Given the description of an element on the screen output the (x, y) to click on. 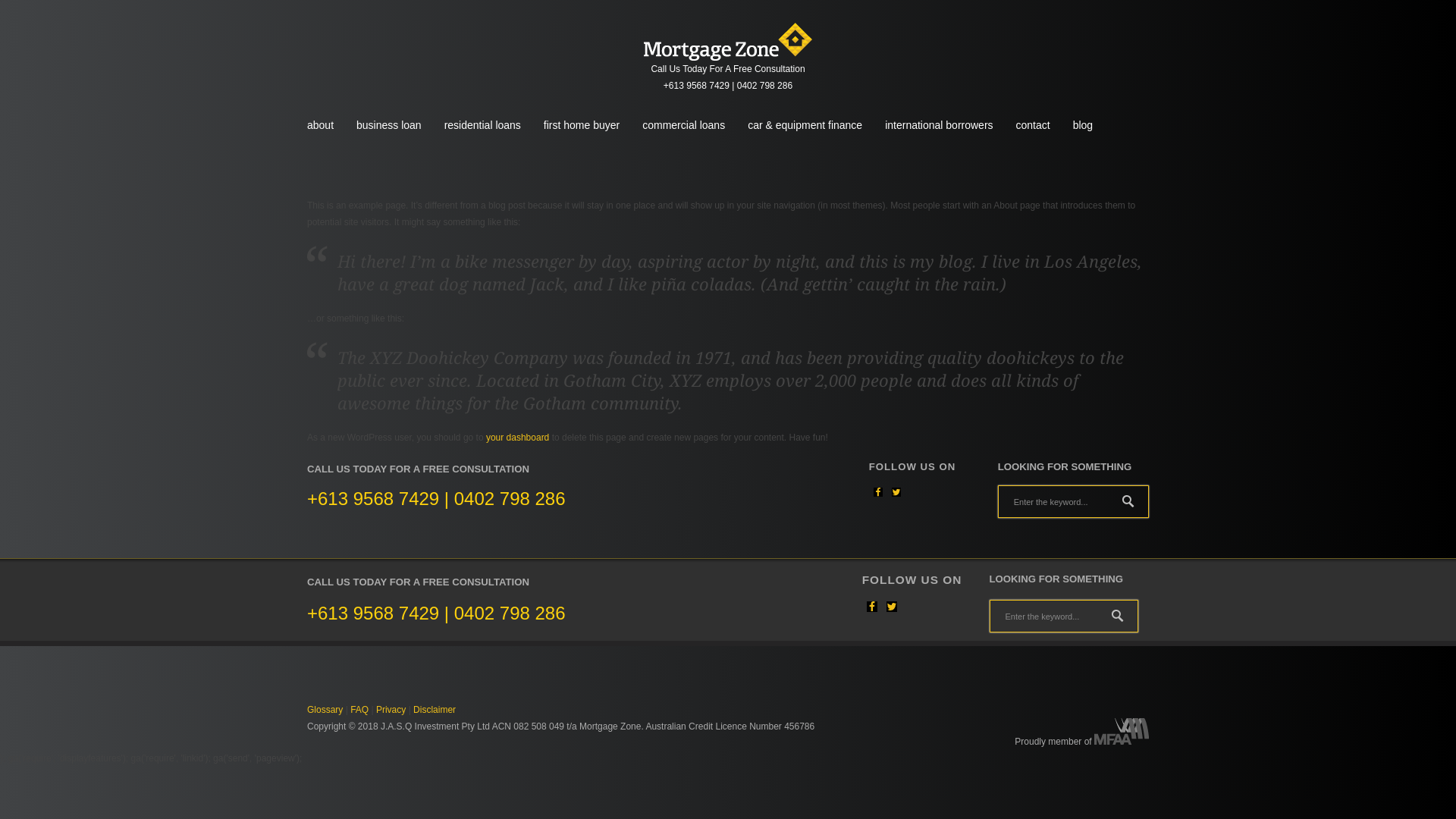
Glossary Element type: text (324, 709)
first home buyer Element type: text (581, 125)
Disclaimer Element type: text (434, 709)
Privacy Element type: text (390, 709)
blog Element type: text (1082, 125)
contact Element type: text (1033, 125)
Mortgage Zone Element type: hover (727, 41)
residential loans Element type: text (482, 125)
business loan Element type: text (388, 125)
international borrowers Element type: text (938, 125)
your dashboard Element type: text (517, 437)
about Element type: text (320, 125)
FAQ Element type: text (359, 709)
commercial loans Element type: text (683, 125)
car & equipment finance Element type: text (804, 125)
